Given the description of an element on the screen output the (x, y) to click on. 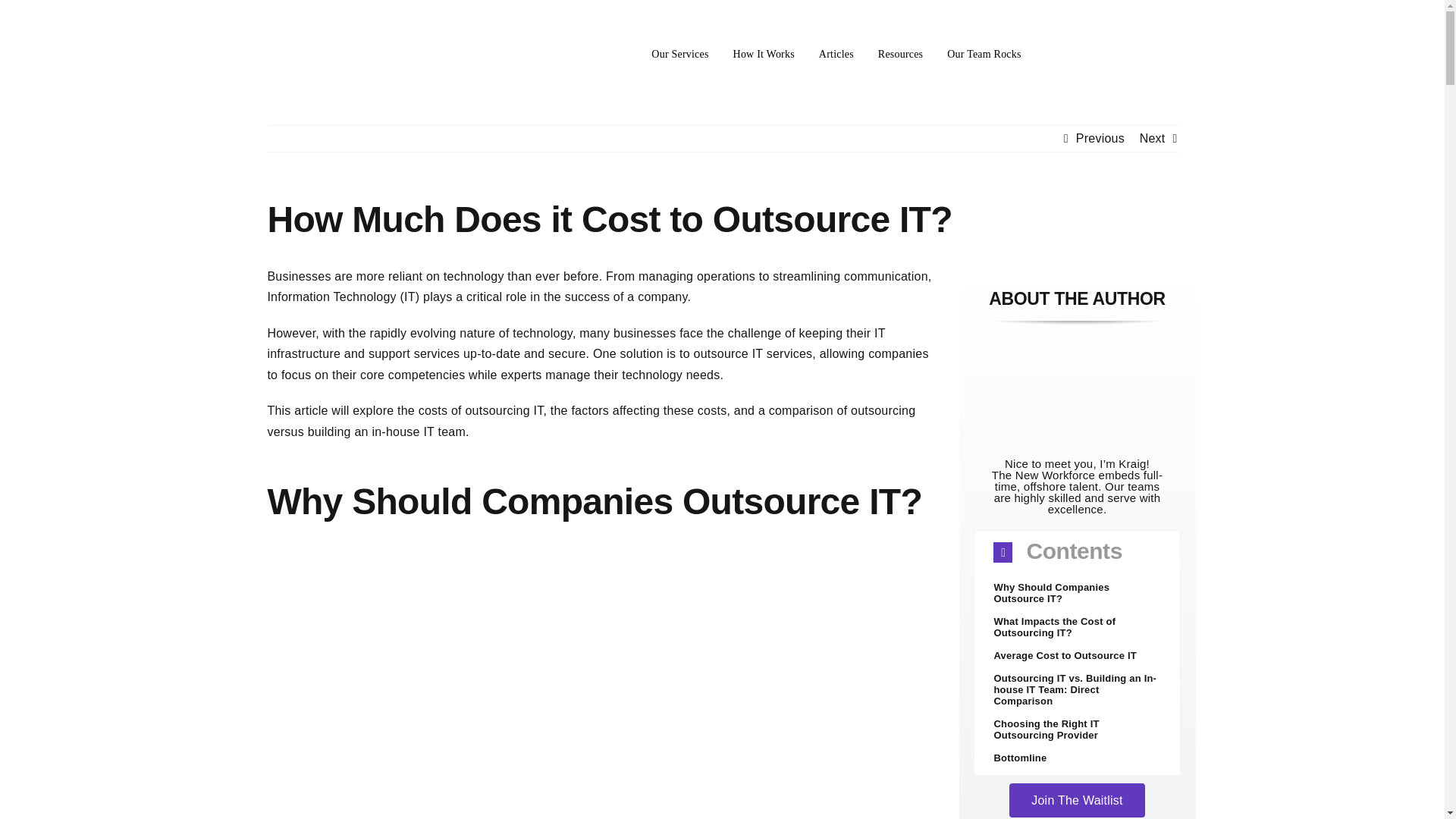
Average Cost to Outsource IT (1063, 655)
Previous (1099, 138)
How It Works (763, 54)
Choosing the Right IT Outsourcing Provider (1045, 729)
Next (1153, 138)
Author (1077, 389)
Our Services (678, 54)
Bottomline (1019, 757)
Contents (1076, 552)
Our Team Rocks (983, 54)
Resources (900, 54)
Why Should Companies Outsource IT? (1050, 592)
What Impacts the Cost of Outsourcing IT? (1053, 626)
